Given the description of an element on the screen output the (x, y) to click on. 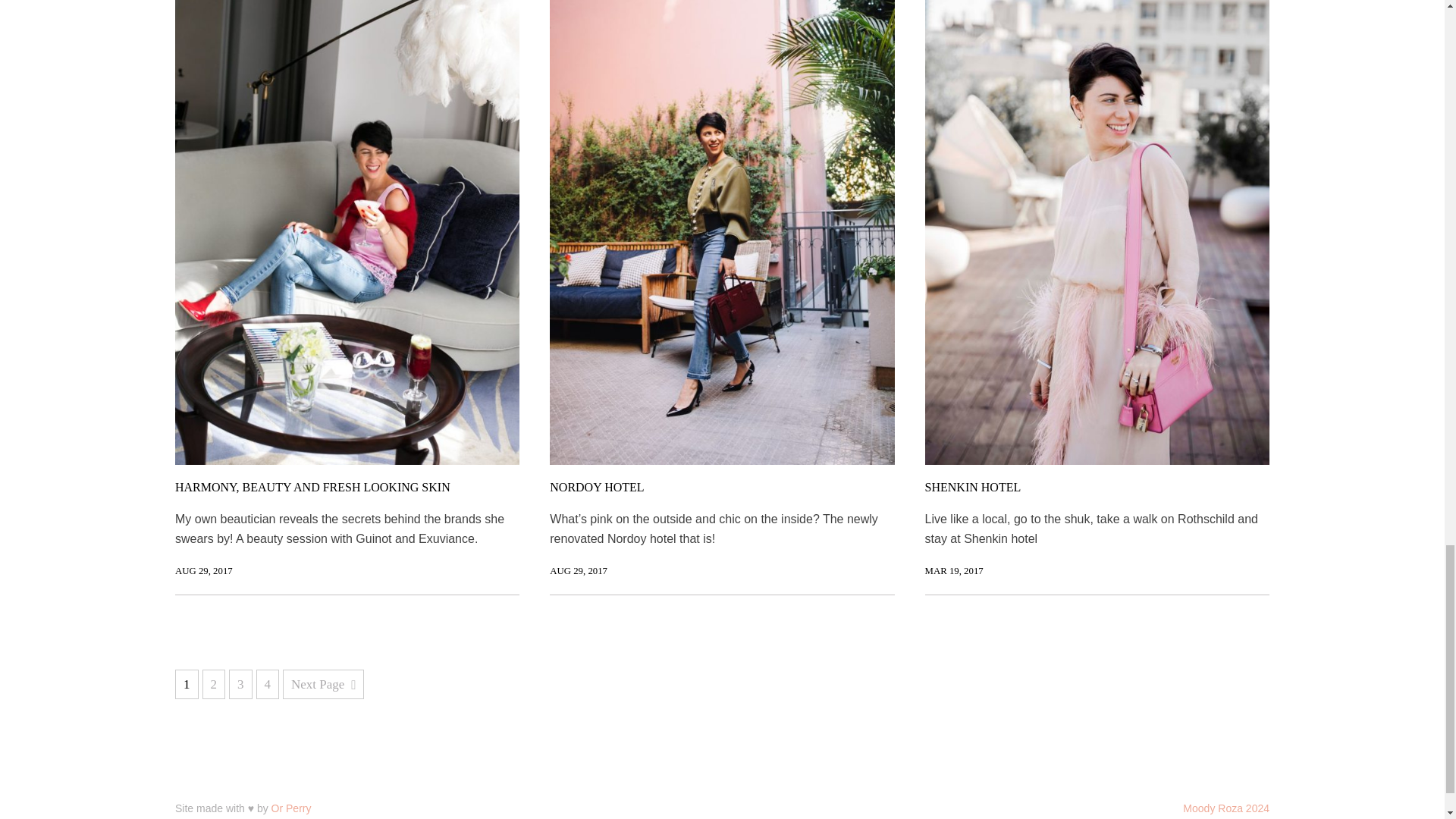
Permalink to Harmony, beauty and fresh looking skin (203, 570)
AUG 29, 2017 (203, 570)
HARMONY, BEAUTY AND FRESH LOOKING SKIN (311, 486)
Permalink to SHENKIN Hotel (954, 570)
Permalink to Nordoy Hotel (578, 570)
